Given the description of an element on the screen output the (x, y) to click on. 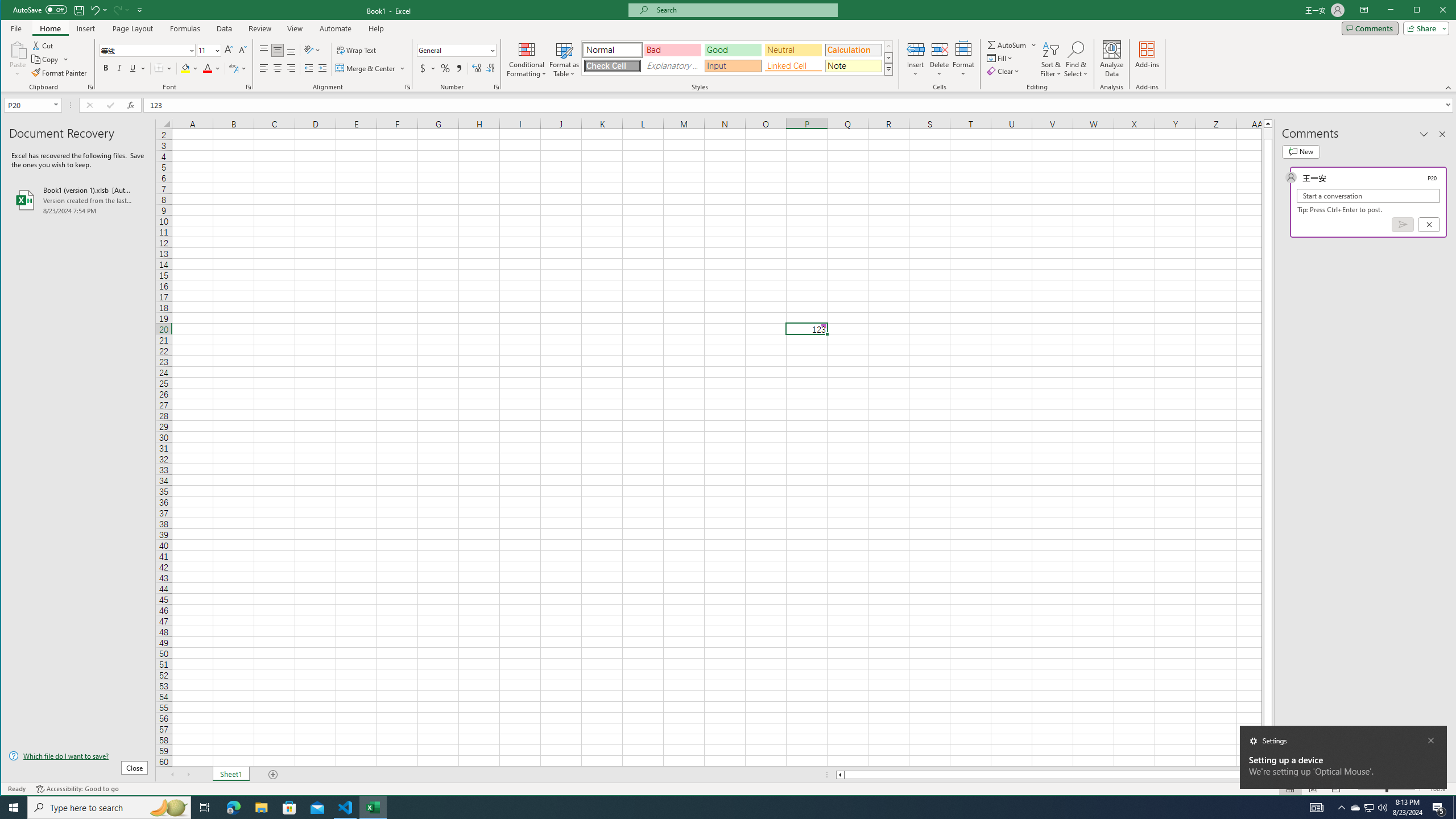
Page up (1267, 132)
PivotTable (22, 59)
Scroll Right (188, 774)
Add Sheet (272, 774)
Start a conversation (1368, 195)
Maps (413, 59)
WordArt (791, 59)
Draw Horizontal Text Box (735, 48)
Insert Hierarchy Chart (371, 44)
Insert Combo Chart (391, 57)
